Given the description of an element on the screen output the (x, y) to click on. 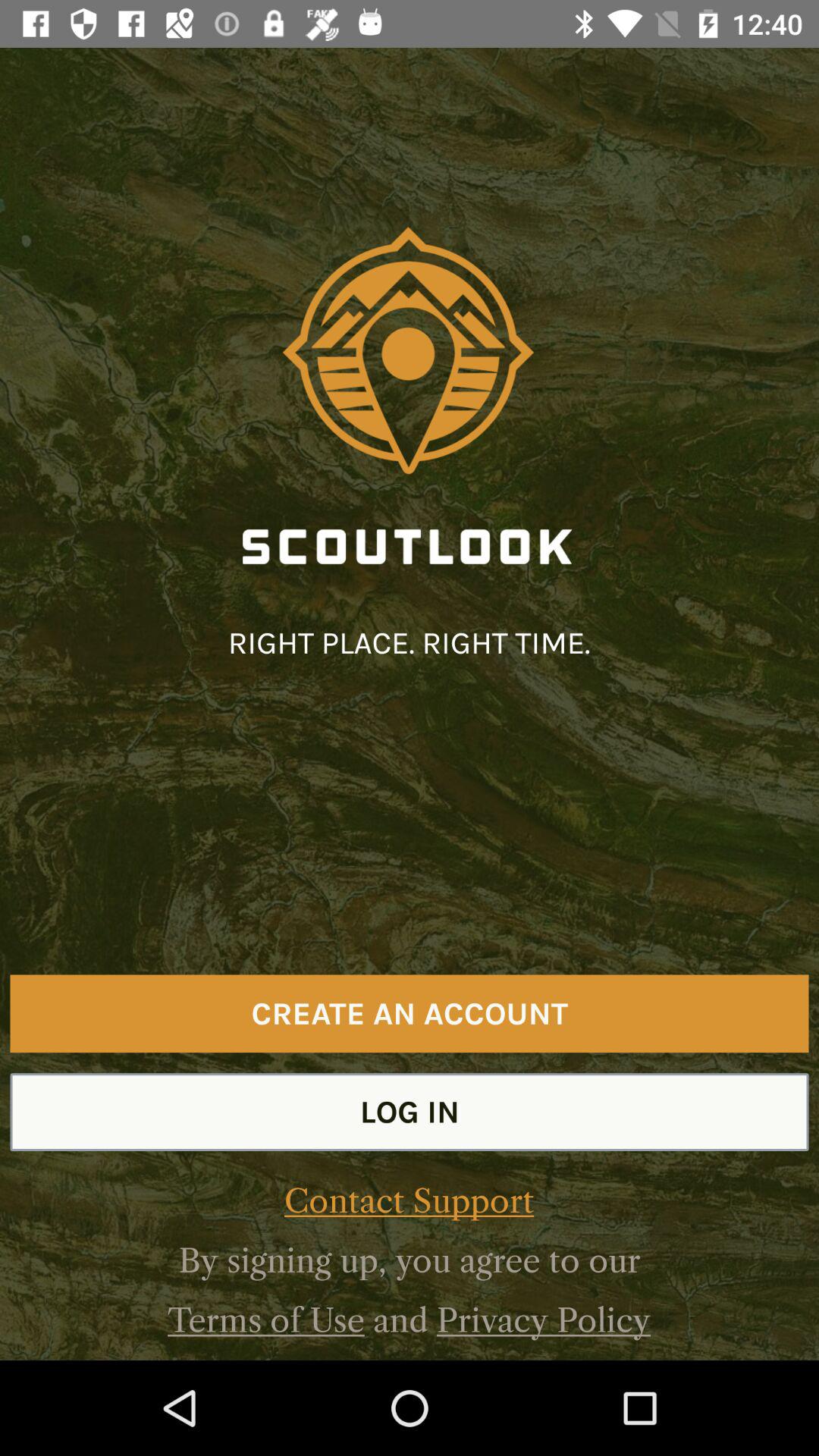
launch the icon below the right place right (409, 1013)
